Given the description of an element on the screen output the (x, y) to click on. 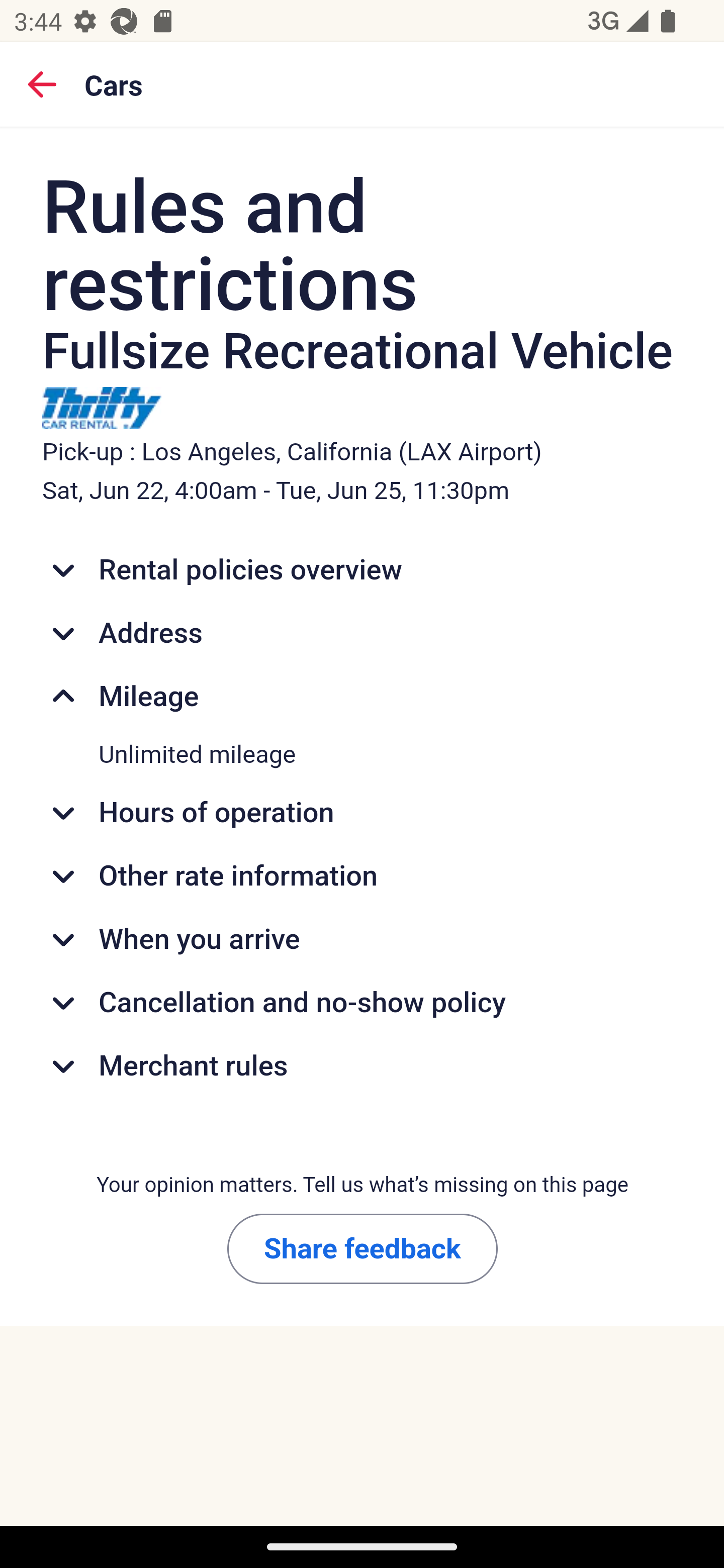
Back (41, 83)
Rental policies overview (362, 569)
Address (362, 632)
Mileage (362, 696)
Hours of operation (362, 813)
Other rate information (362, 876)
When you arrive (362, 939)
Cancellation and no-show policy (362, 1003)
Merchant rules (362, 1065)
Share feedback (362, 1248)
